Given the description of an element on the screen output the (x, y) to click on. 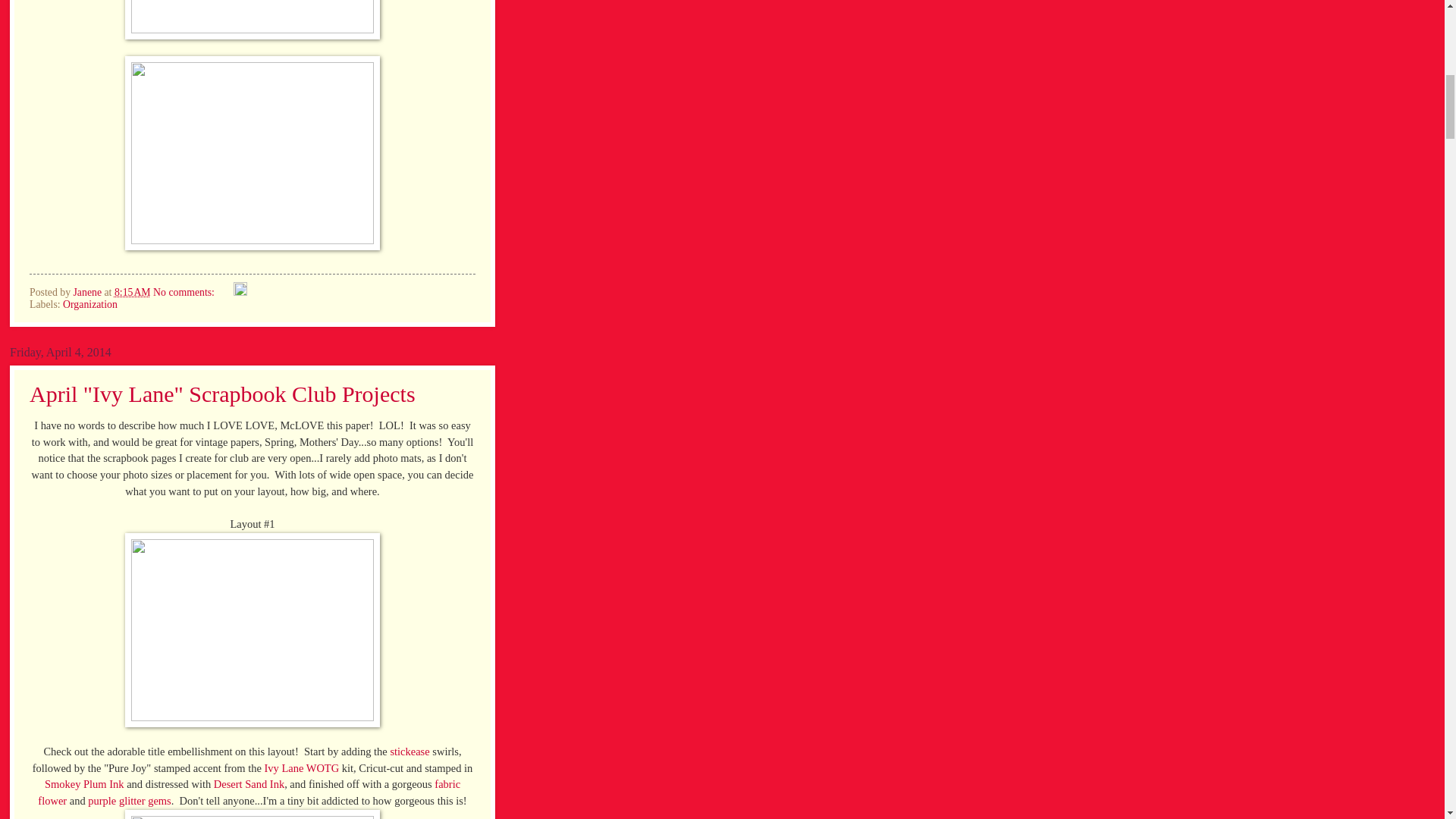
permanent link (133, 292)
Email Post (224, 292)
Smokey Plum Ink (84, 784)
fabric flower (248, 792)
Ivy Lane WOTG (301, 767)
Edit Post (239, 292)
April "Ivy Lane" Scrapbook Club Projects (221, 393)
No comments: (184, 292)
purple glitter gems (128, 800)
author profile (87, 292)
stickease (409, 751)
Desert Sand Ink (248, 784)
Janene (87, 292)
Organization (89, 304)
